Given the description of an element on the screen output the (x, y) to click on. 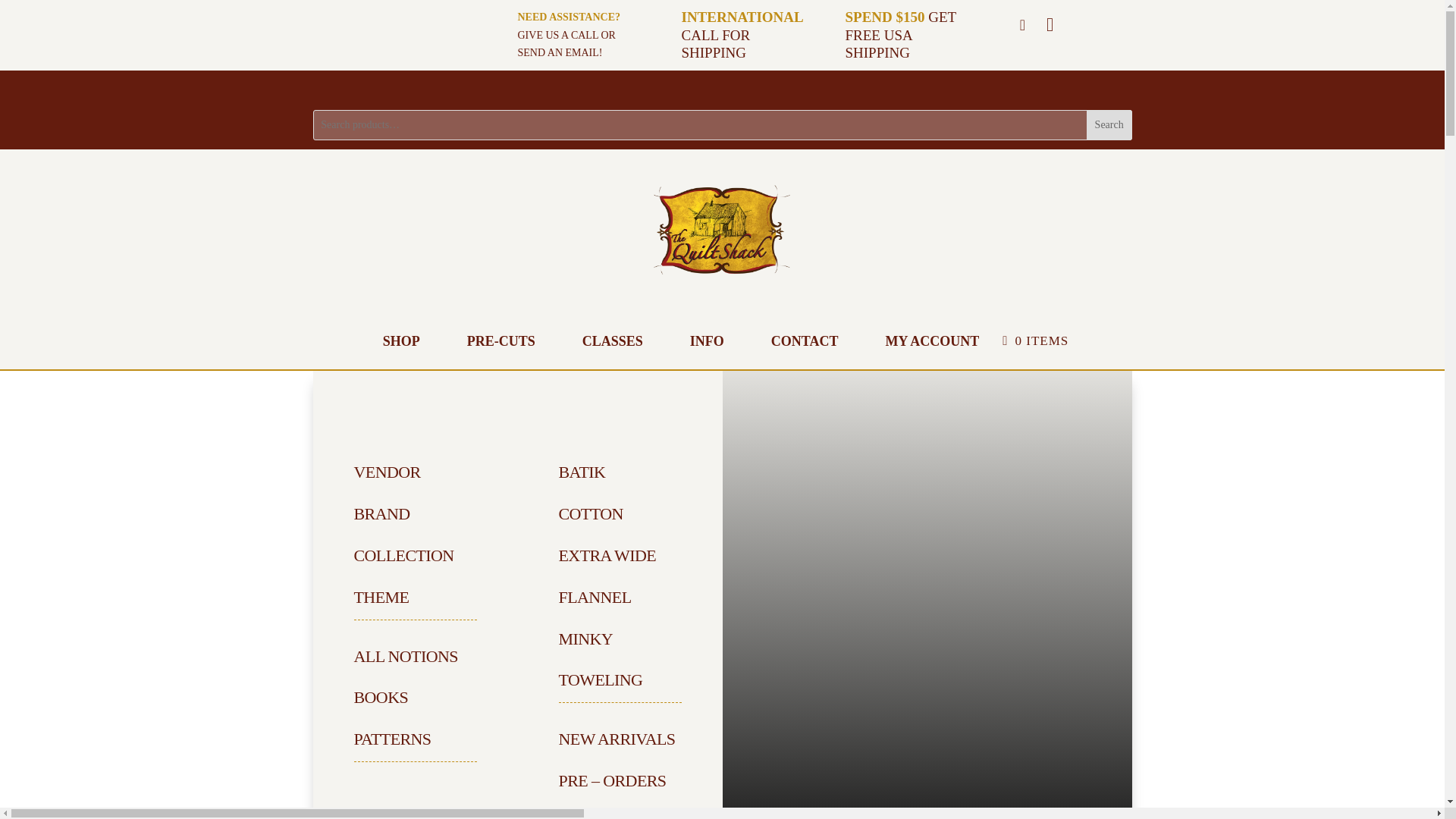
0 ITEMS (1035, 340)
Search (1109, 124)
SHOP (401, 340)
CONTACT (804, 340)
CLASSES (612, 340)
INFO (707, 340)
MY ACCOUNT (931, 340)
PRE-CUTS (500, 340)
